Given the description of an element on the screen output the (x, y) to click on. 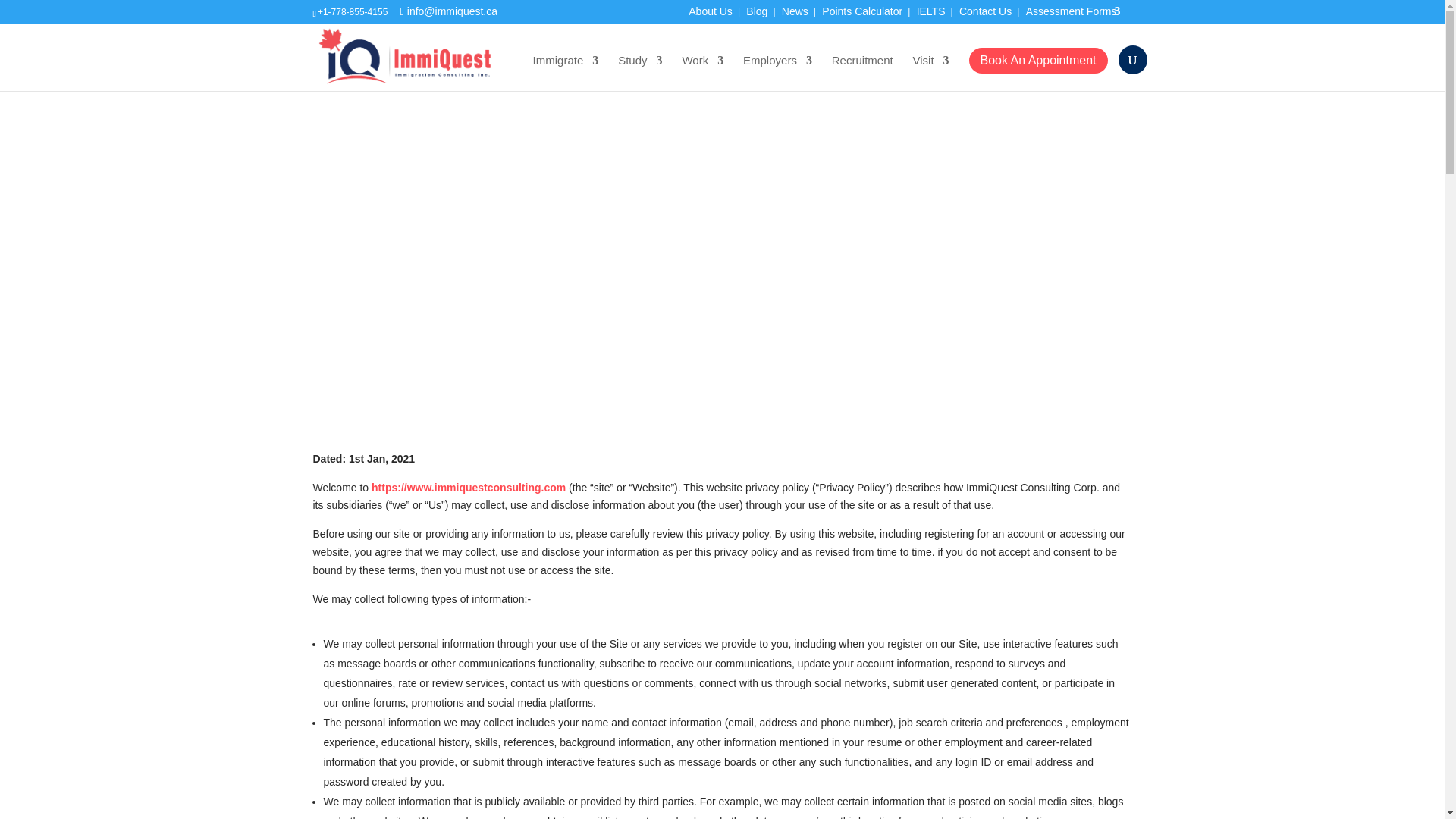
Immigrate (565, 72)
Assessment Forms (1079, 15)
News (794, 15)
Blog (756, 15)
Work (702, 72)
Contact Us (985, 15)
IELTS (930, 15)
Study (639, 72)
About Us (710, 15)
Points Calculator (862, 15)
